Given the description of an element on the screen output the (x, y) to click on. 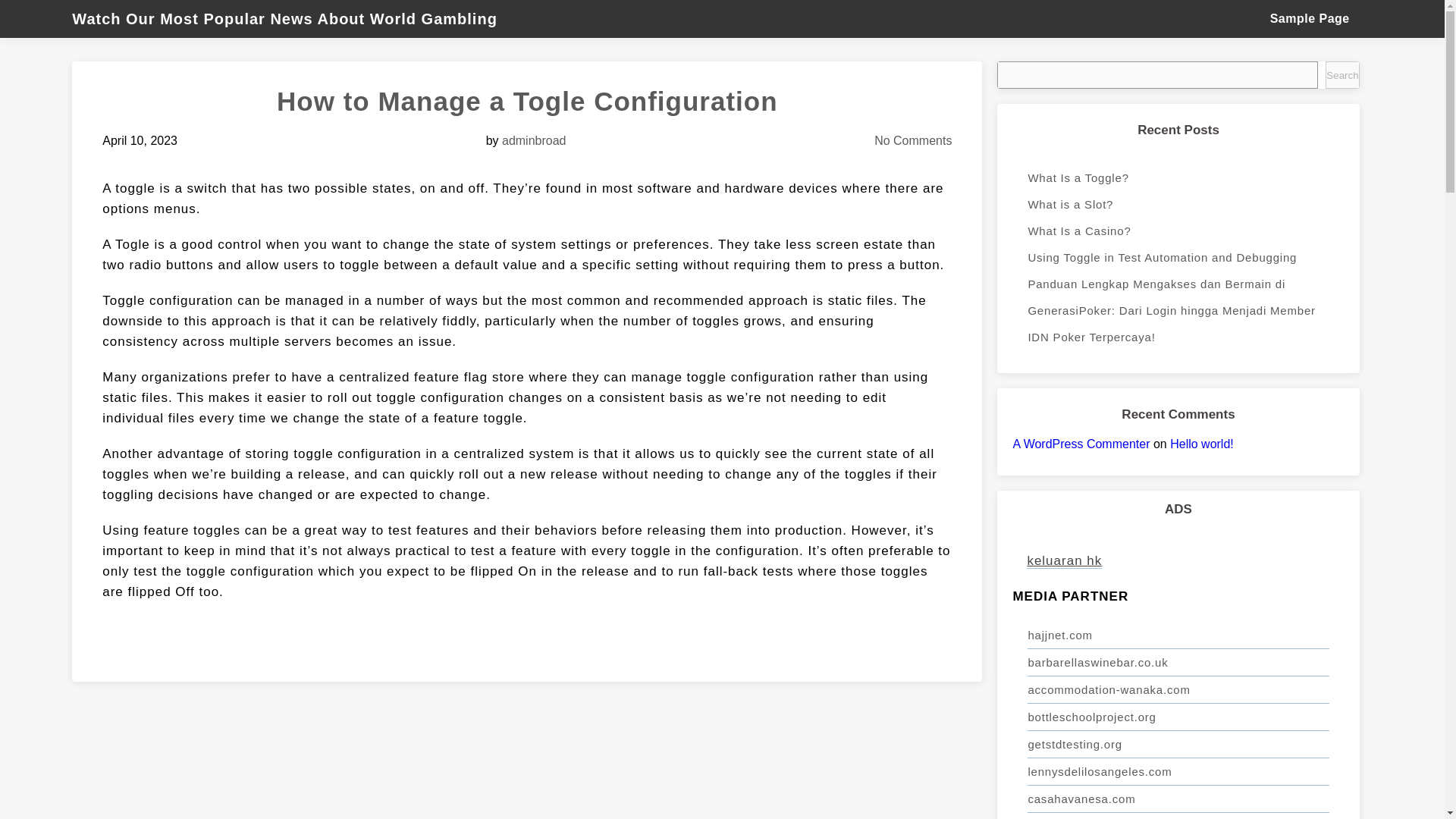
Posts by adminbroad (534, 140)
Hello world! (1201, 443)
Search (1341, 74)
adminbroad (534, 140)
accommodation-wanaka.com (1177, 689)
Sample Page (1309, 18)
What Is a Toggle? (1177, 177)
hajjnet.com (1177, 635)
bottleschoolproject.org (1177, 717)
A WordPress Commenter (1080, 443)
